Given the description of an element on the screen output the (x, y) to click on. 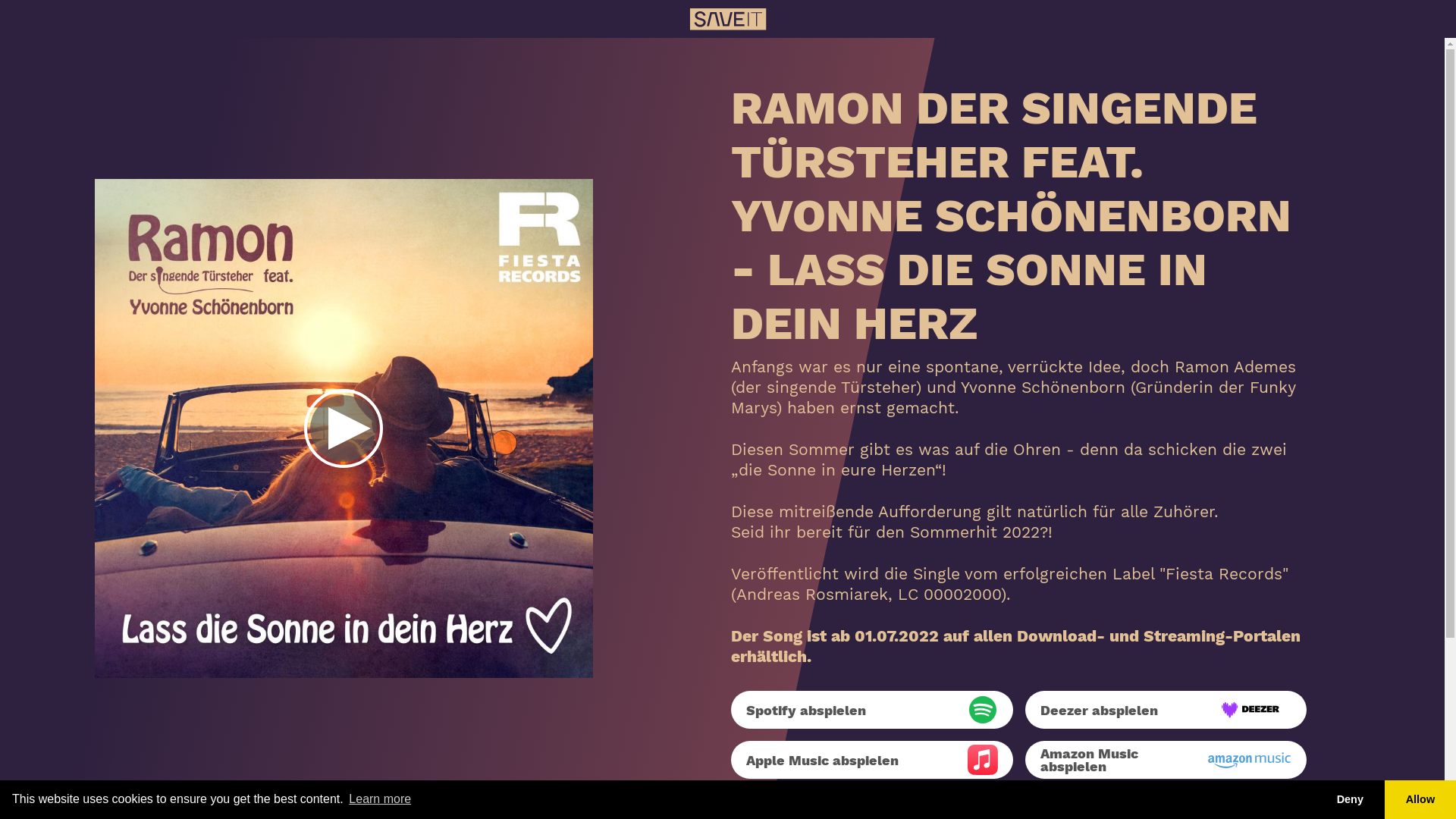
Amazon Music abspielen Element type: text (1166, 759)
Spotify abspielen Element type: text (872, 709)
Deezer abspielen Element type: text (1166, 709)
Learn more Element type: text (379, 798)
Apple Music abspielen Element type: text (872, 759)
Legal Disclosure Element type: text (745, 799)
Privacy Policy Element type: text (853, 802)
